Given the description of an element on the screen output the (x, y) to click on. 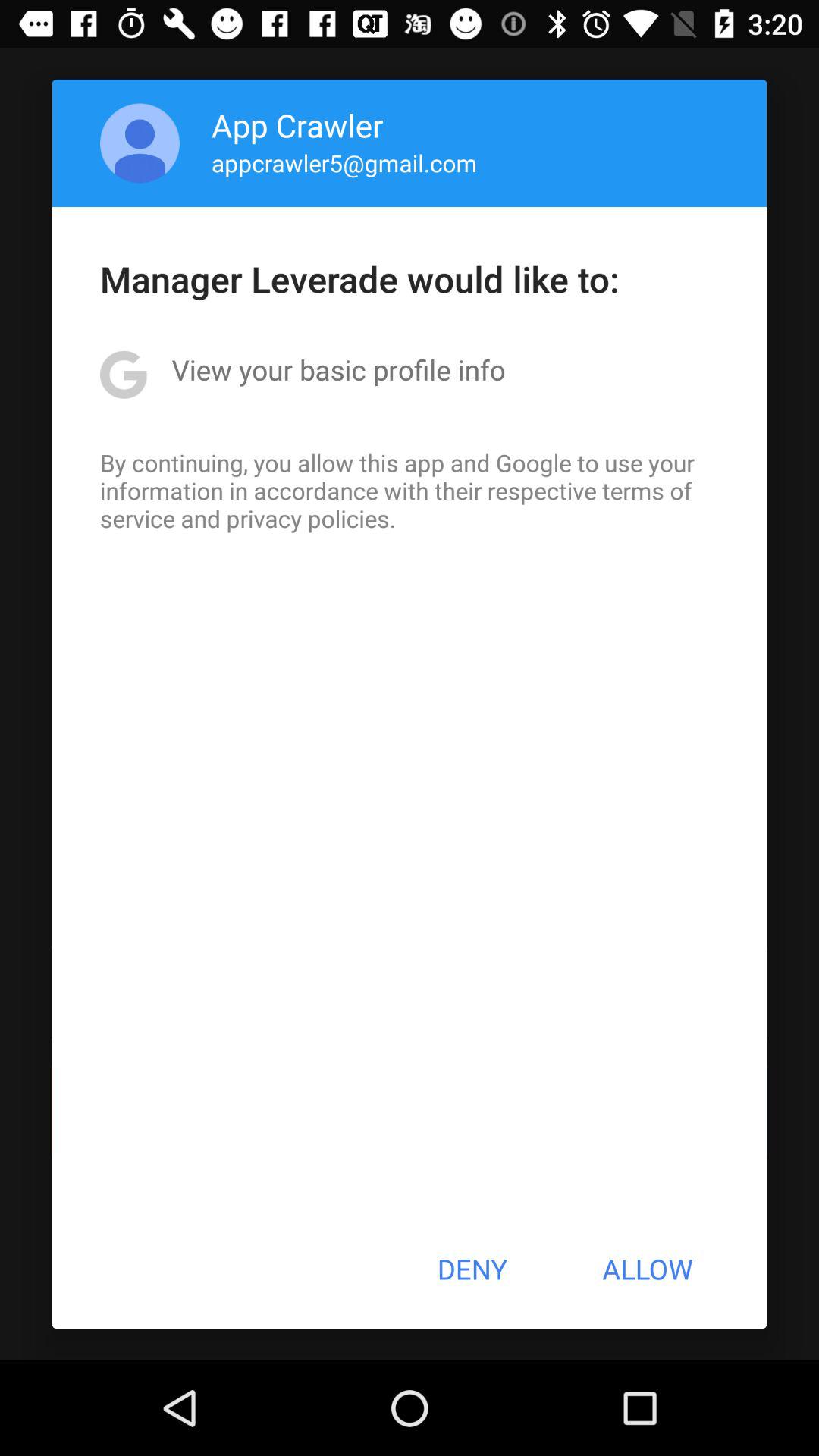
turn off the view your basic item (338, 369)
